Given the description of an element on the screen output the (x, y) to click on. 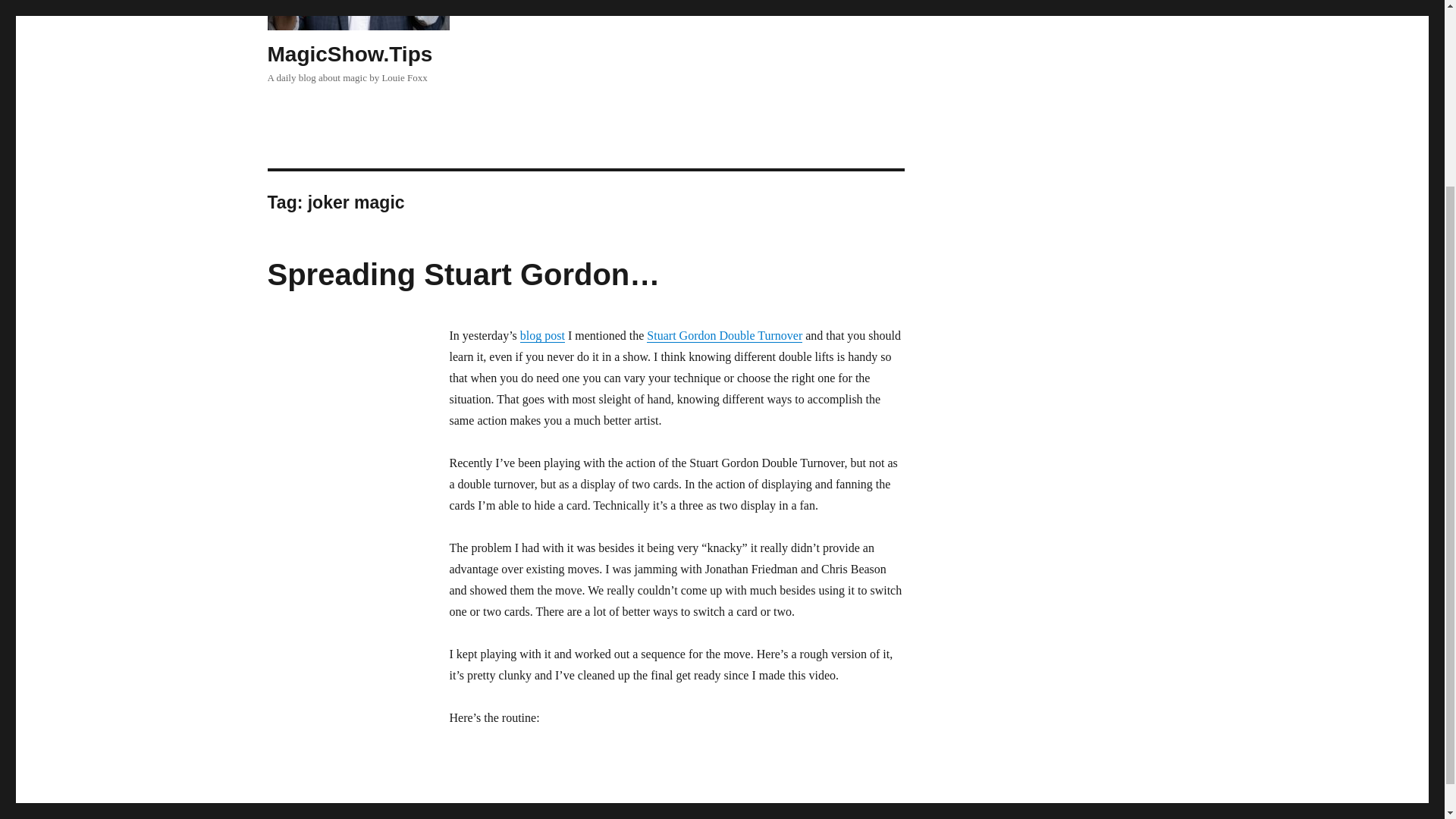
Stuart Gordon Double Turnover (724, 335)
blog post (541, 335)
MagicShow.Tips (349, 54)
